Given the description of an element on the screen output the (x, y) to click on. 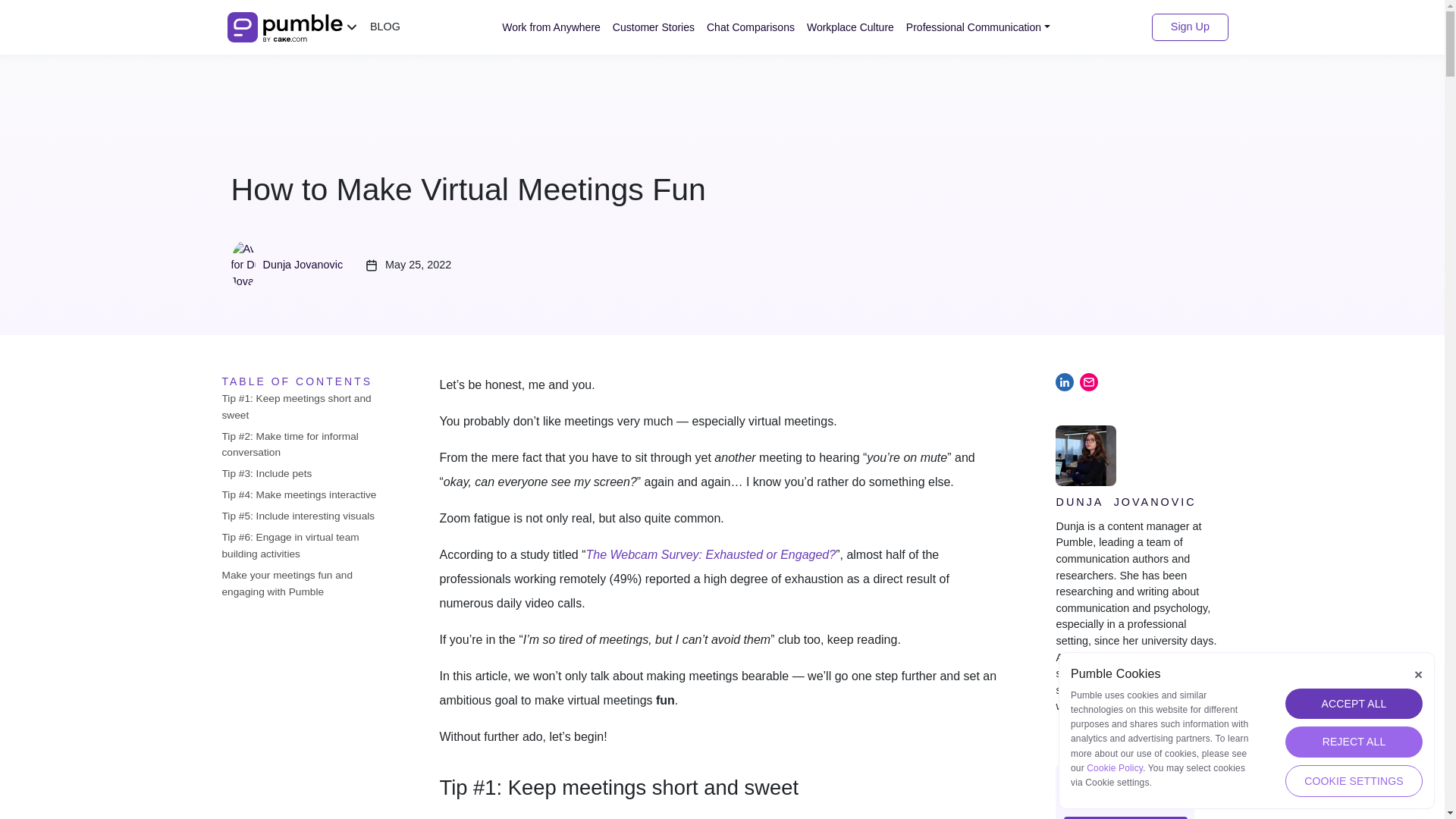
Make your meetings fun and engaging with Pumble (304, 583)
Chat Comparisons (750, 27)
Sign Up (1189, 26)
Customer Stories (653, 27)
Professional Communication (978, 27)
Gravatar for Dunja Jovanovic (254, 265)
Workplace Culture (849, 27)
Work from Anywhere (551, 27)
Dunja Jovanovic (286, 265)
BLOG (384, 27)
